Given the description of an element on the screen output the (x, y) to click on. 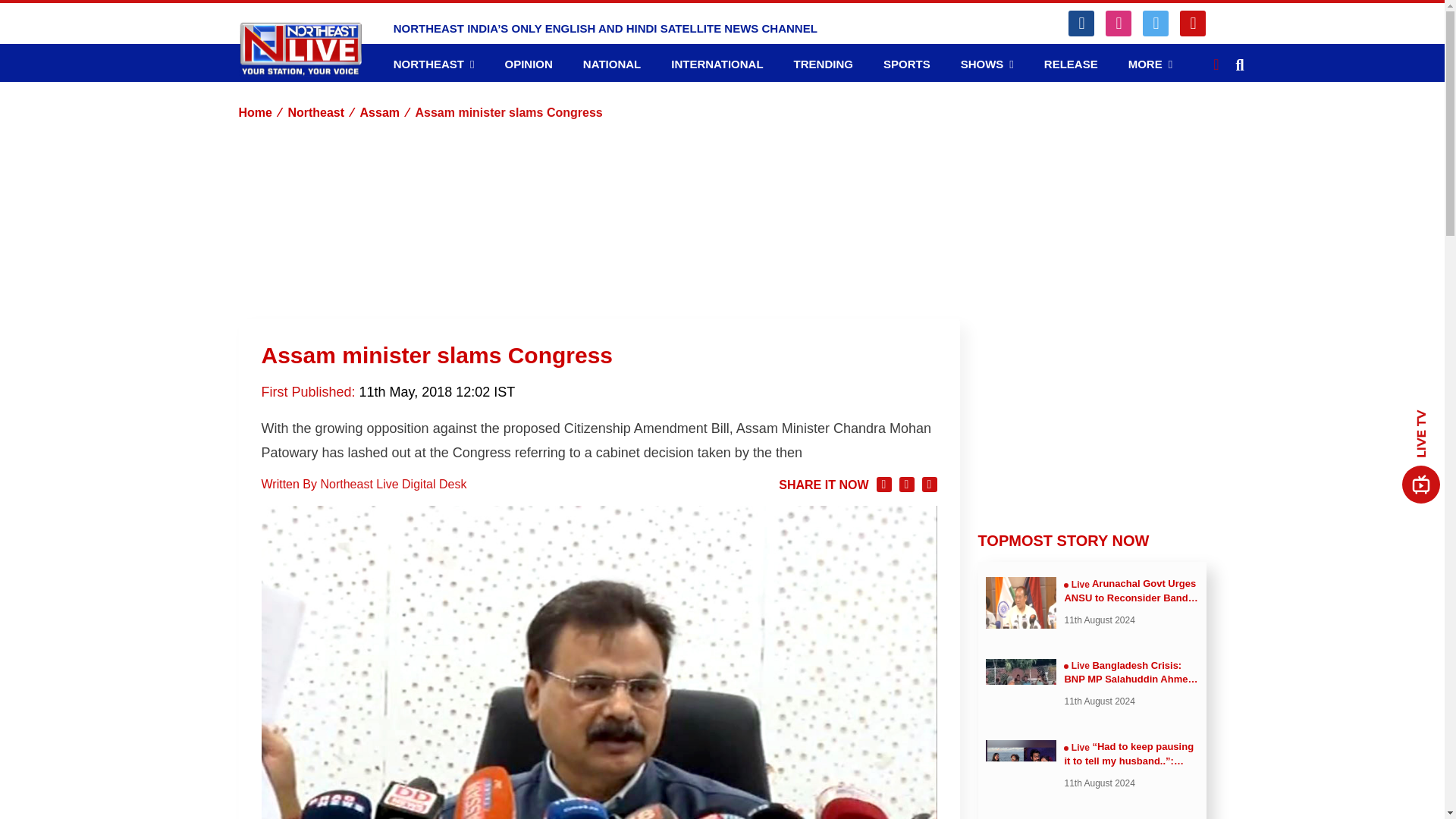
OPINION (527, 63)
SPORTS (906, 63)
TRENDING (823, 63)
INTERNATIONAL (716, 63)
Logo (299, 49)
NORTHEAST (433, 64)
NATIONAL (611, 63)
SHOWS (986, 64)
